Given the description of an element on the screen output the (x, y) to click on. 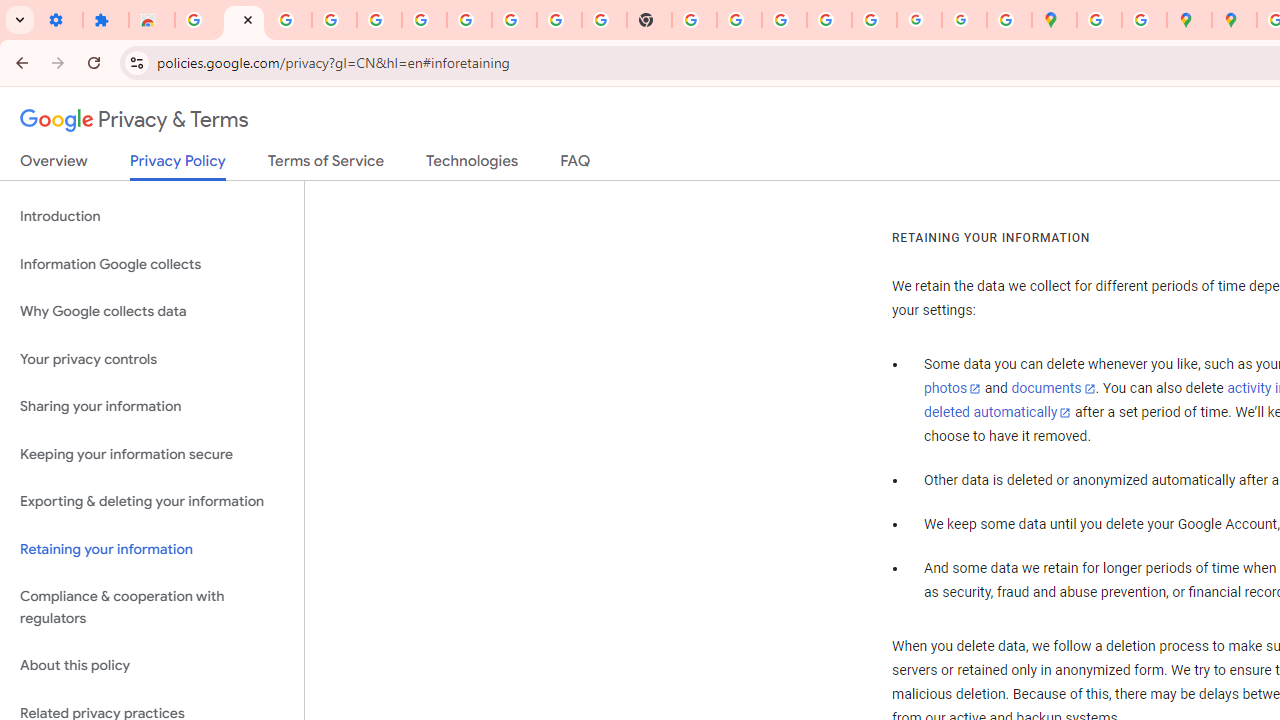
Settings - On startup (60, 20)
https://scholar.google.com/ (694, 20)
Keeping your information secure (152, 453)
Information Google collects (152, 263)
Sign in - Google Accounts (198, 20)
